Given the description of an element on the screen output the (x, y) to click on. 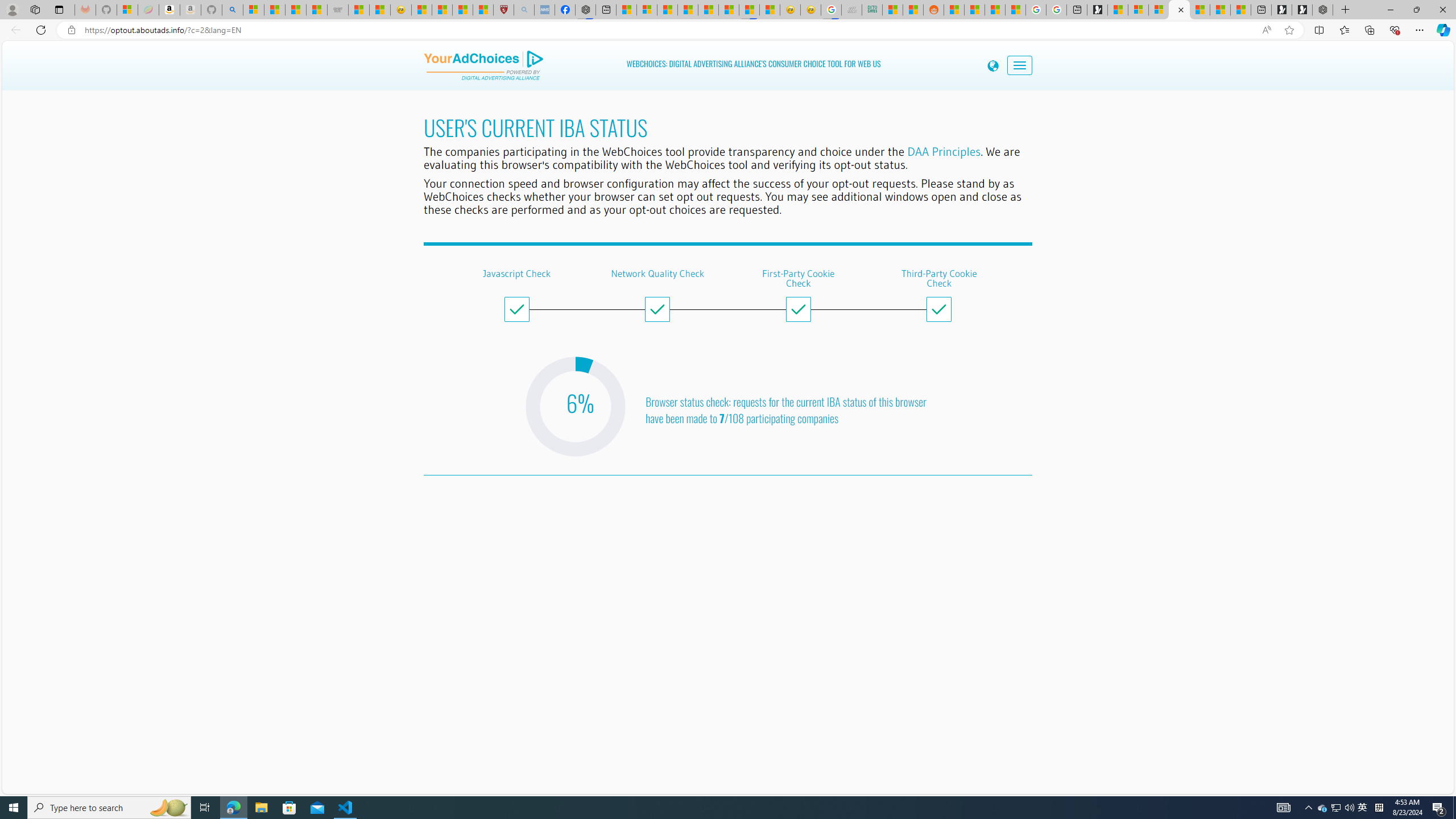
DAA Principles (944, 151)
Microsoft Start Gaming (1096, 9)
